Given the description of an element on the screen output the (x, y) to click on. 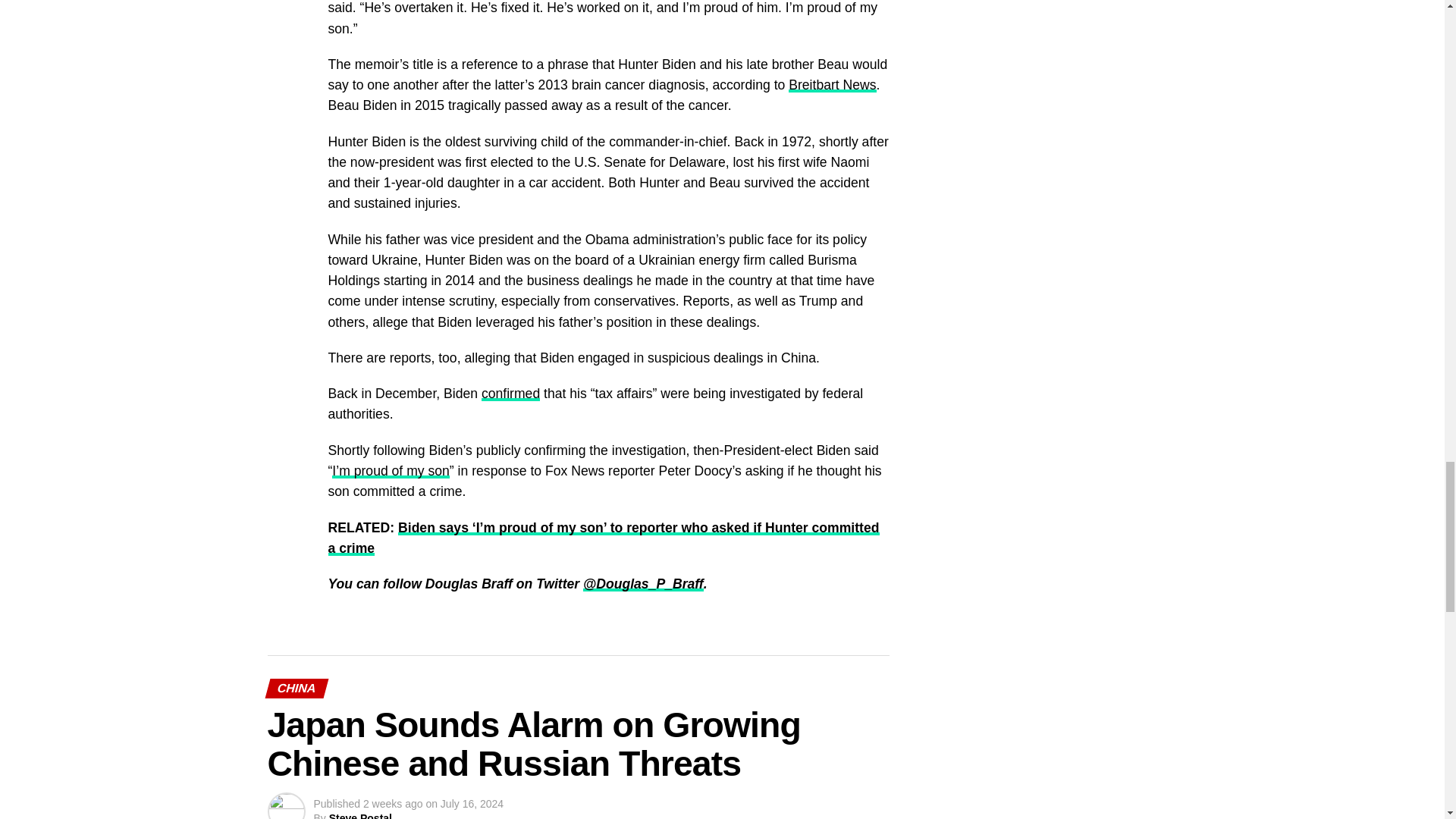
Posts by Steve Postal (360, 815)
confirmed (510, 393)
Breitbart News (832, 84)
